Given the description of an element on the screen output the (x, y) to click on. 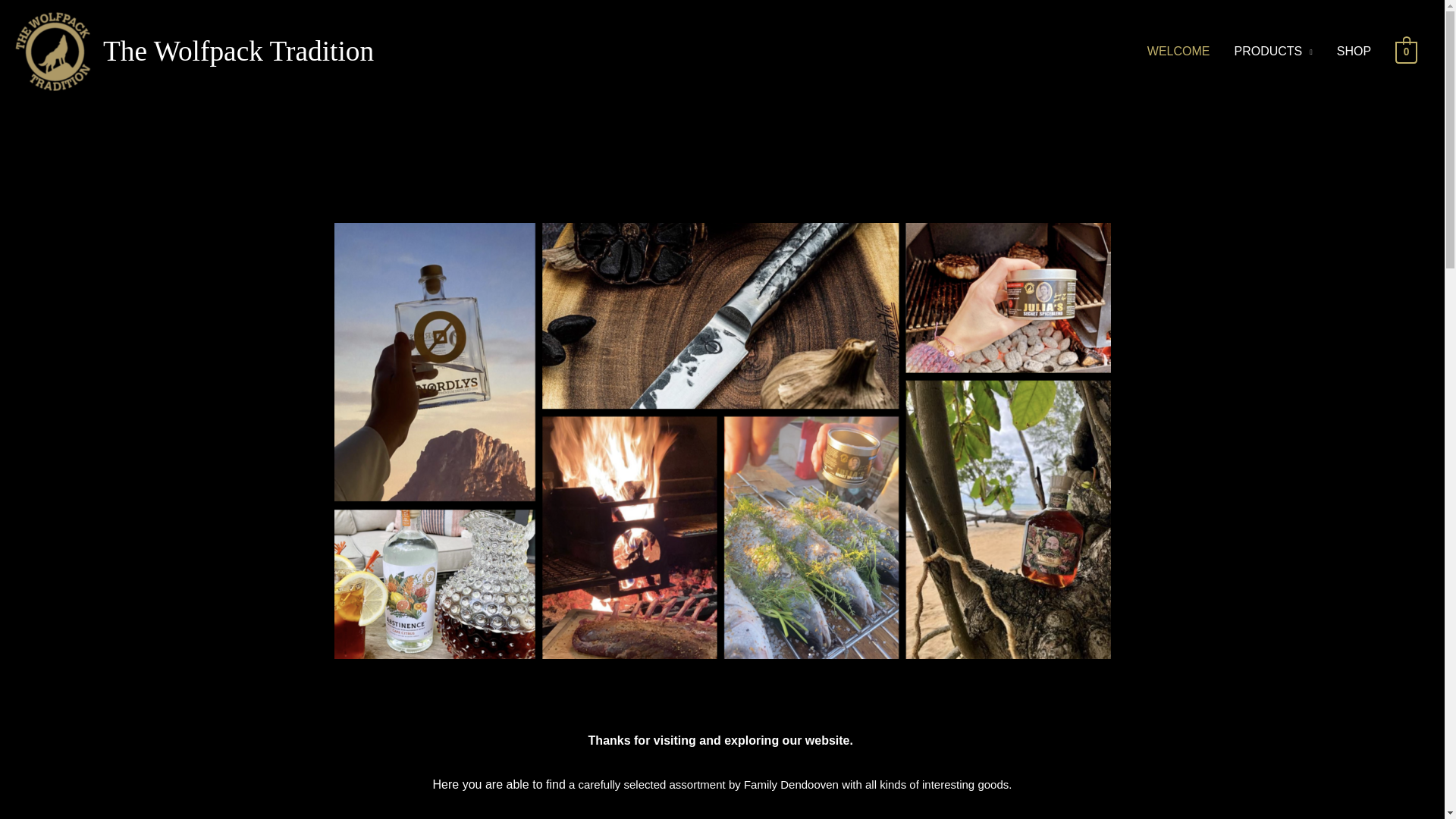
The Wolfpack Tradition (238, 51)
PRODUCTS (1272, 51)
0 (1405, 51)
